Given the description of an element on the screen output the (x, y) to click on. 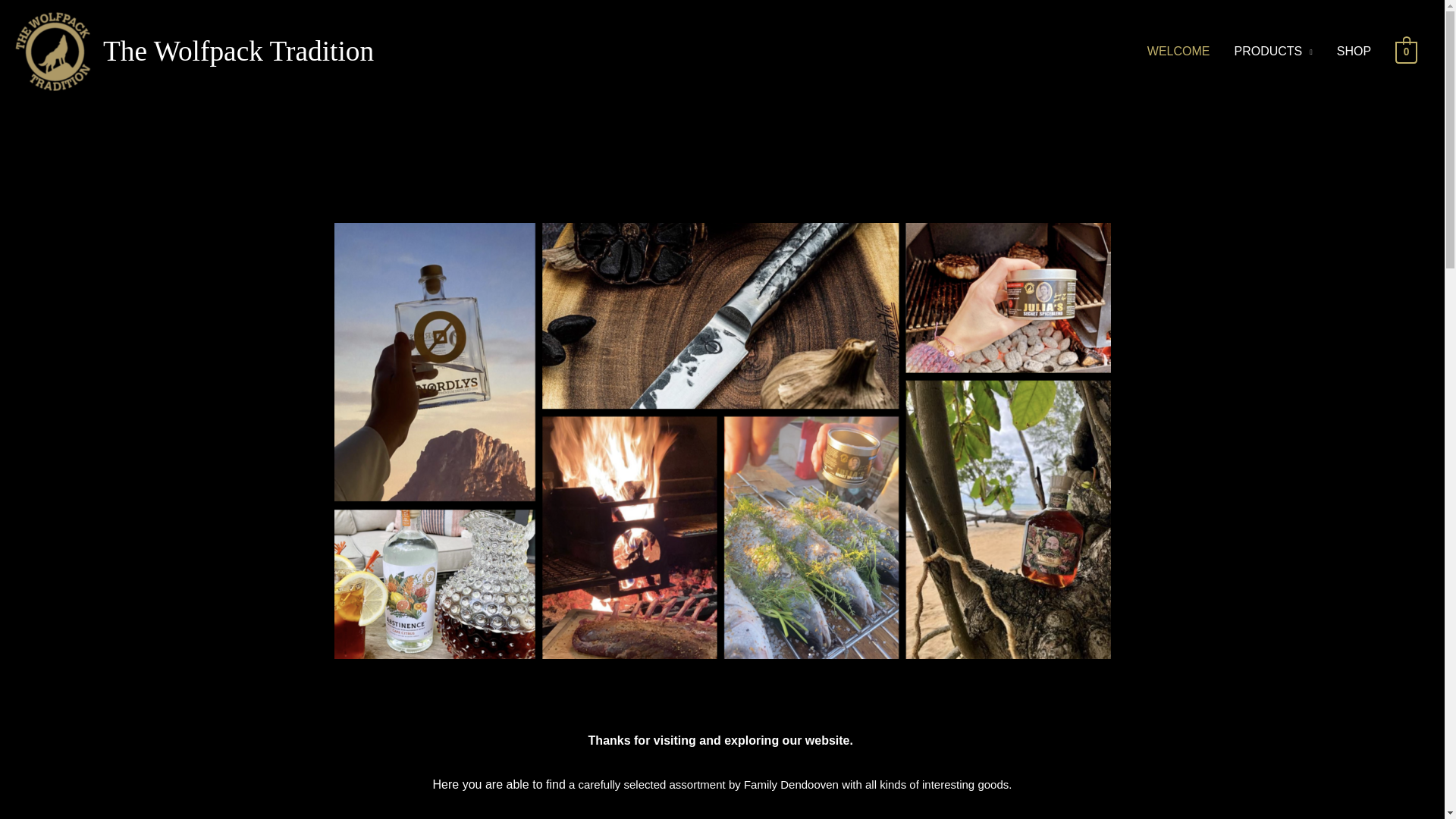
The Wolfpack Tradition (238, 51)
PRODUCTS (1272, 51)
0 (1405, 51)
